Given the description of an element on the screen output the (x, y) to click on. 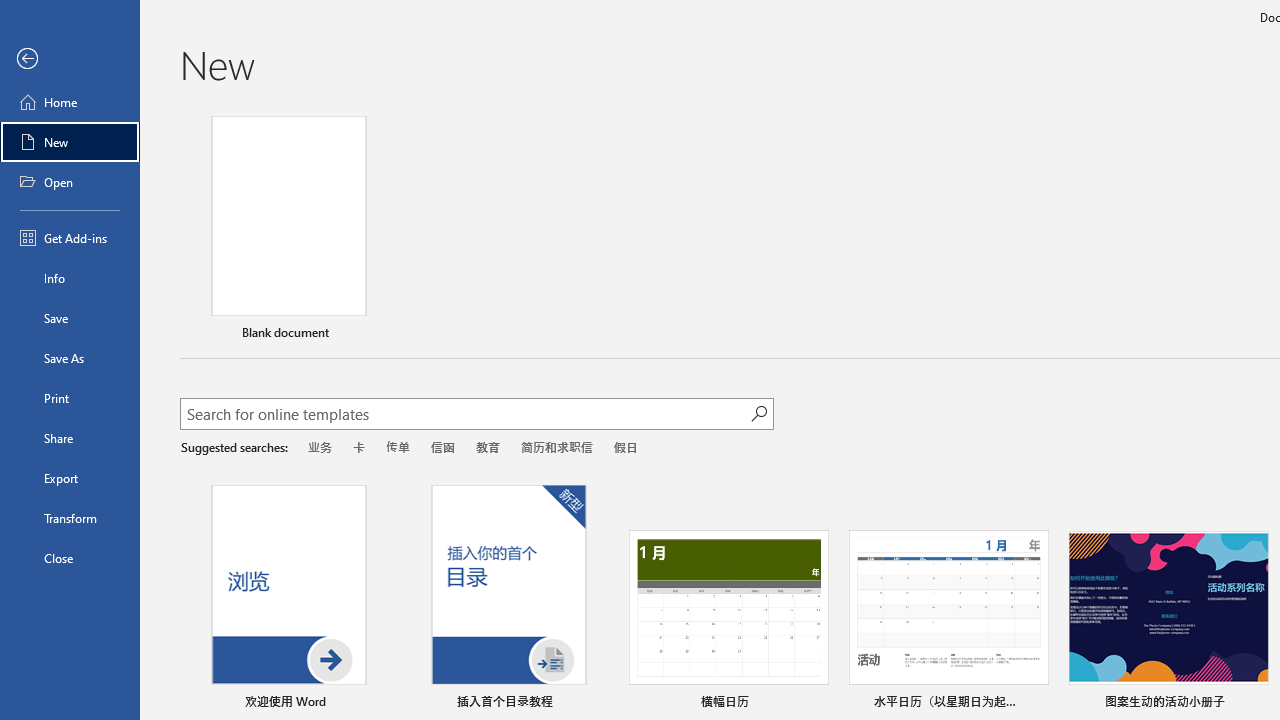
Info (69, 277)
Share (69, 437)
Search for online templates (465, 416)
Pin to list (1255, 703)
New (69, 141)
Save As (69, 357)
Blank document (288, 231)
Transform (69, 517)
Export (69, 477)
Close (69, 557)
Open (69, 182)
